Given the description of an element on the screen output the (x, y) to click on. 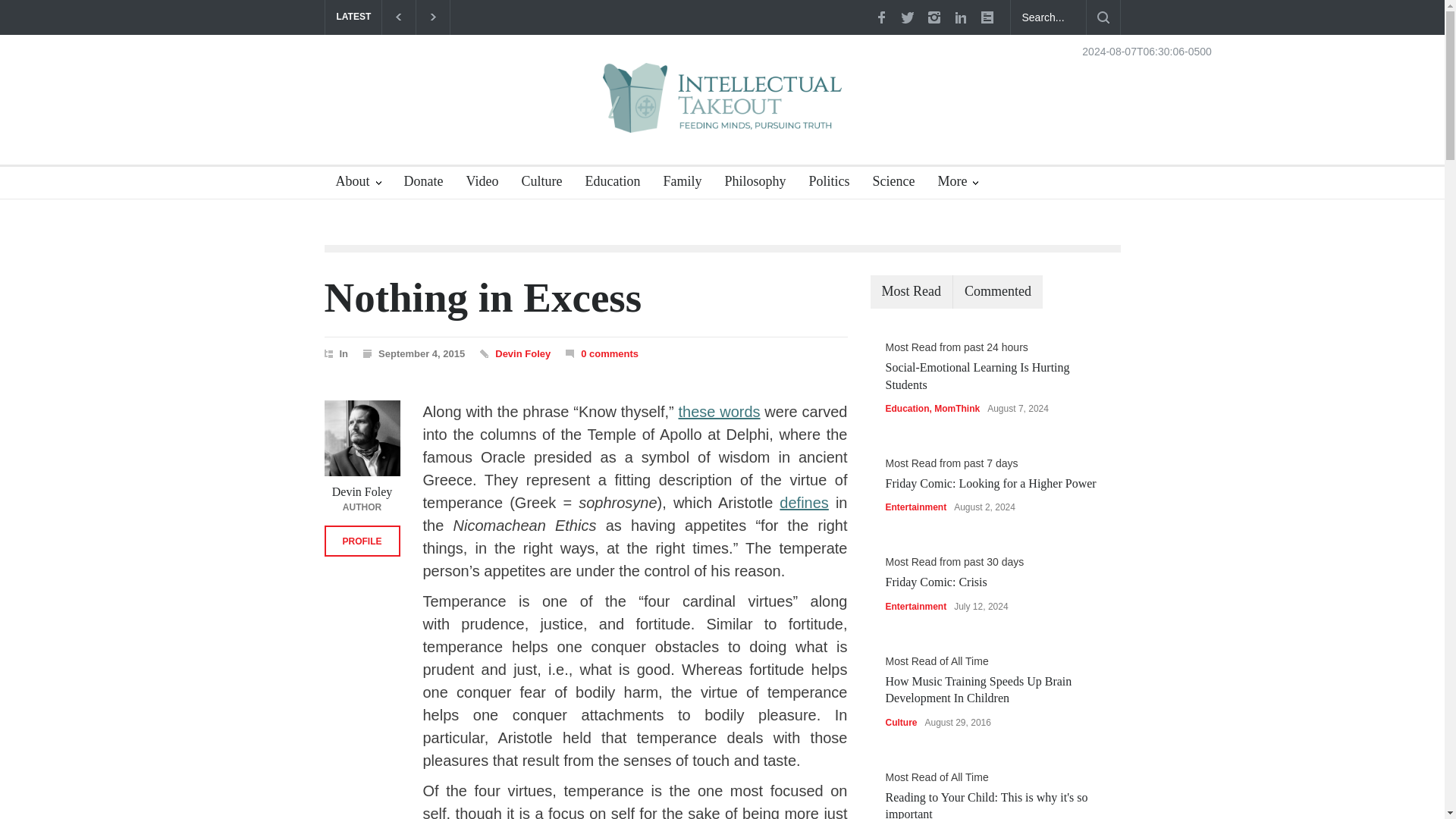
Devin Foley (522, 353)
Search... (1048, 17)
Nothing in Excess (483, 297)
Search... (1048, 17)
Intellectual Takeout (721, 107)
Video (475, 183)
Devin Foley (522, 353)
Culture (535, 183)
0 comments (609, 353)
Family (675, 183)
these words (719, 411)
Donate (418, 183)
